Given the description of an element on the screen output the (x, y) to click on. 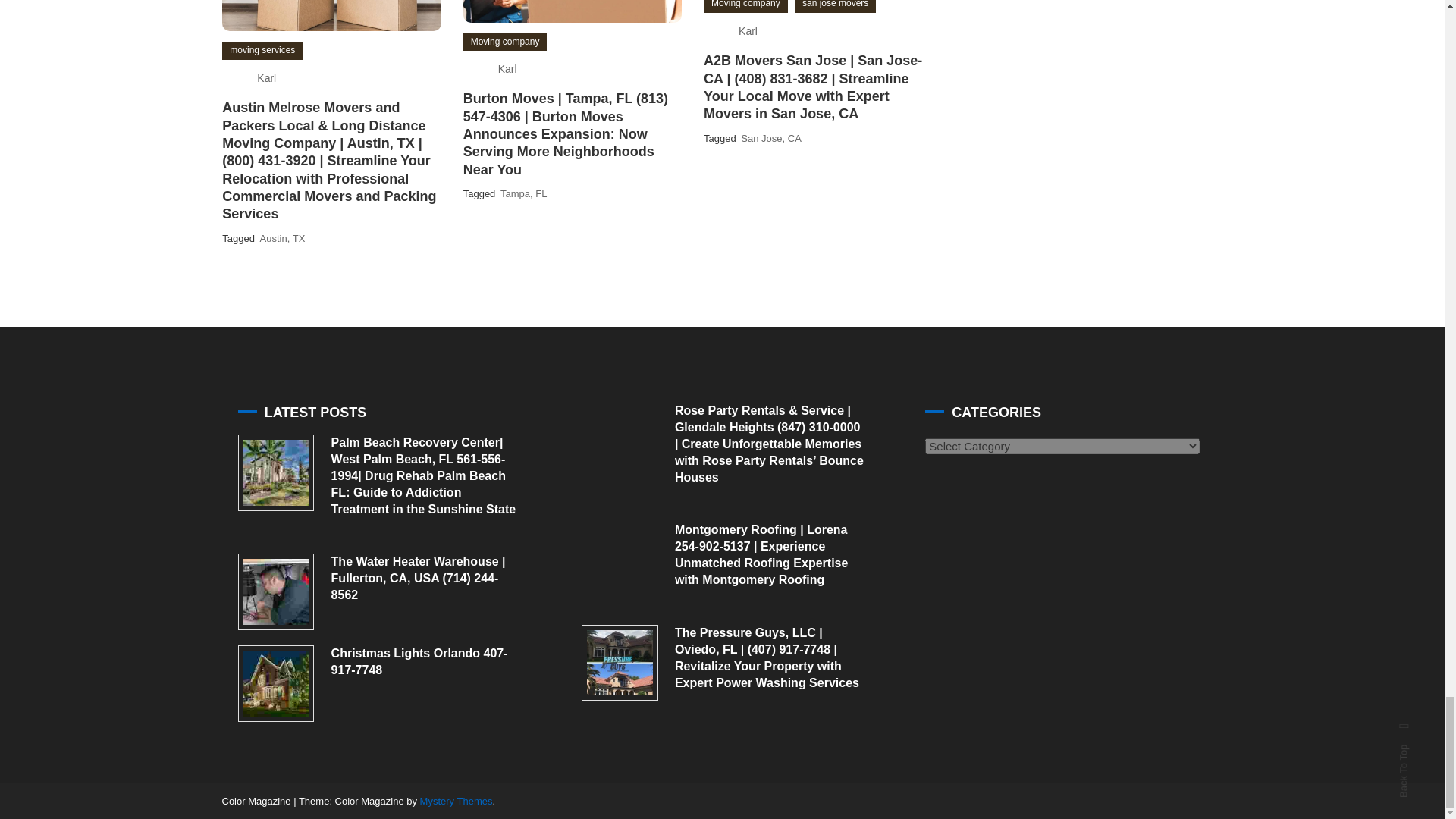
Christmas Lights Orlando 407-917-7748 (276, 683)
